Given the description of an element on the screen output the (x, y) to click on. 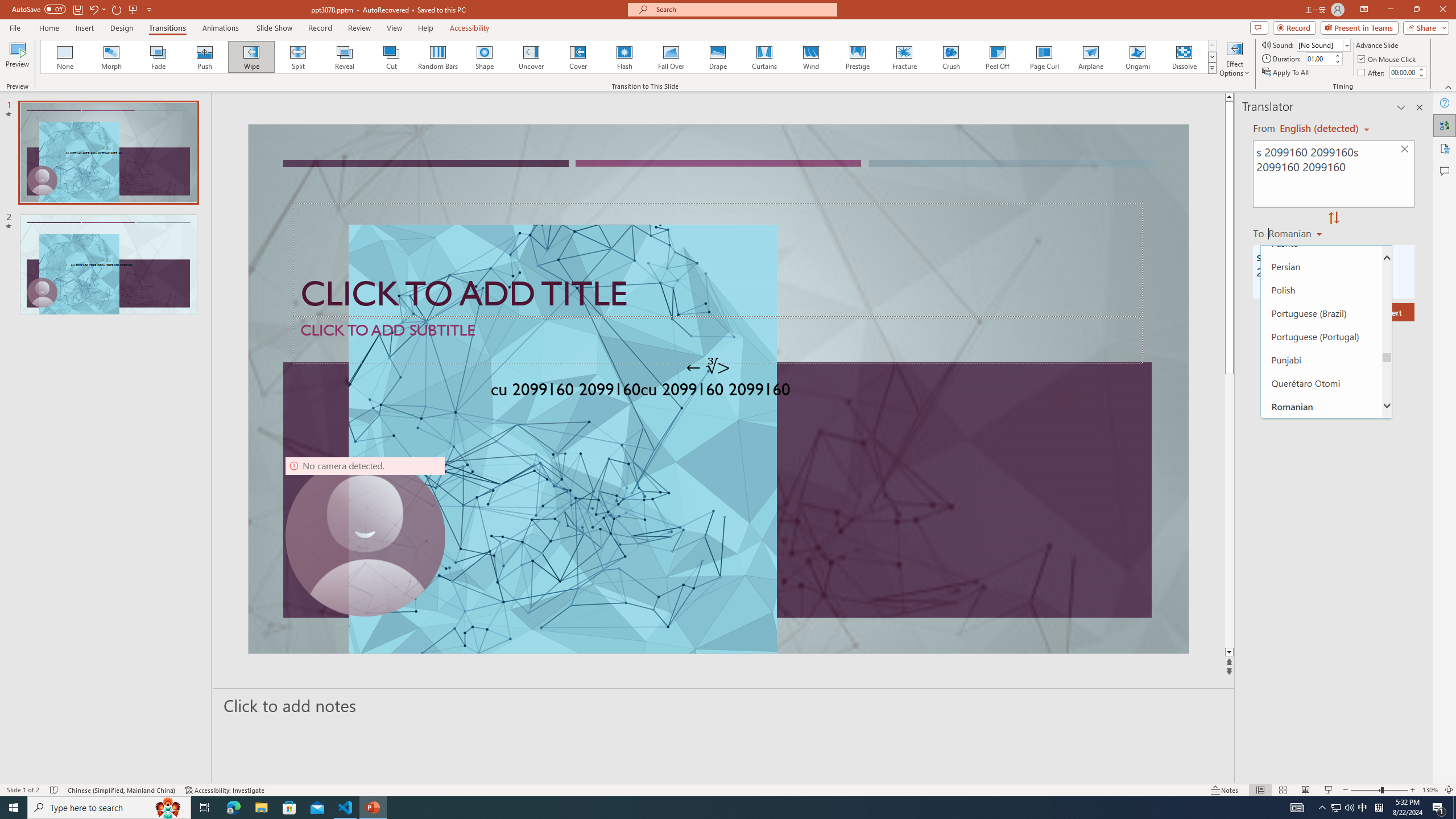
Uncover (531, 56)
Airplane (1090, 56)
Rundi (1320, 428)
After (1372, 72)
Wipe (251, 56)
Cover (577, 56)
Effect Options (1234, 58)
Swahili (1320, 778)
